Given the description of an element on the screen output the (x, y) to click on. 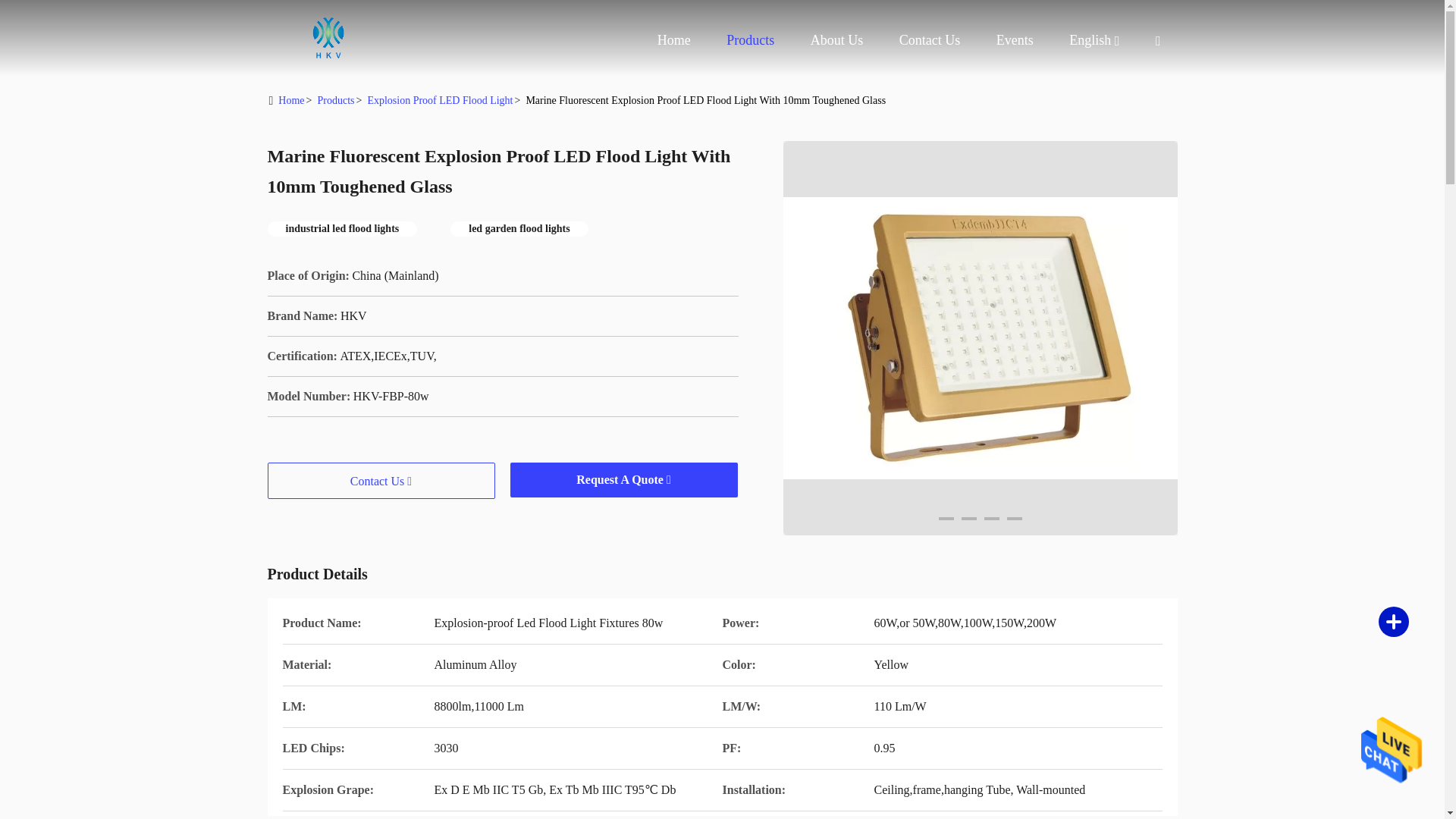
Contact Us (929, 40)
About Us (836, 40)
Products (750, 40)
Products (335, 100)
About Us (836, 40)
Explosion Proof LED Flood Light (439, 100)
Home (291, 100)
Home (327, 37)
Products (750, 40)
